Given the description of an element on the screen output the (x, y) to click on. 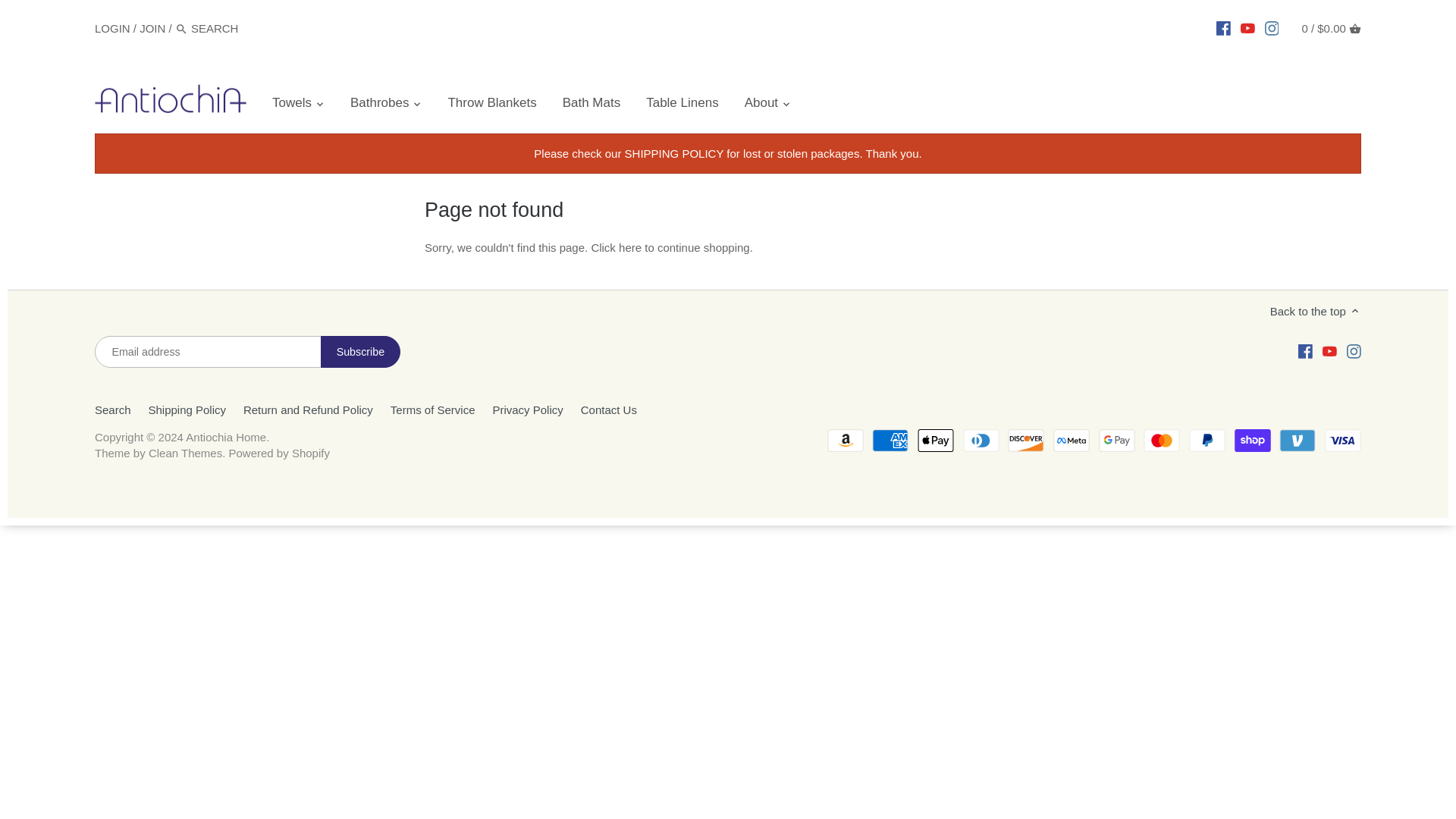
Privacy Policy (527, 409)
CART (1355, 28)
Bath Mats (591, 106)
Return and Refund Policy (307, 409)
Throw Blankets (490, 106)
Instagram (1353, 350)
Mastercard (1160, 440)
About (761, 106)
Discover (1025, 440)
Amazon (845, 440)
